Given the description of an element on the screen output the (x, y) to click on. 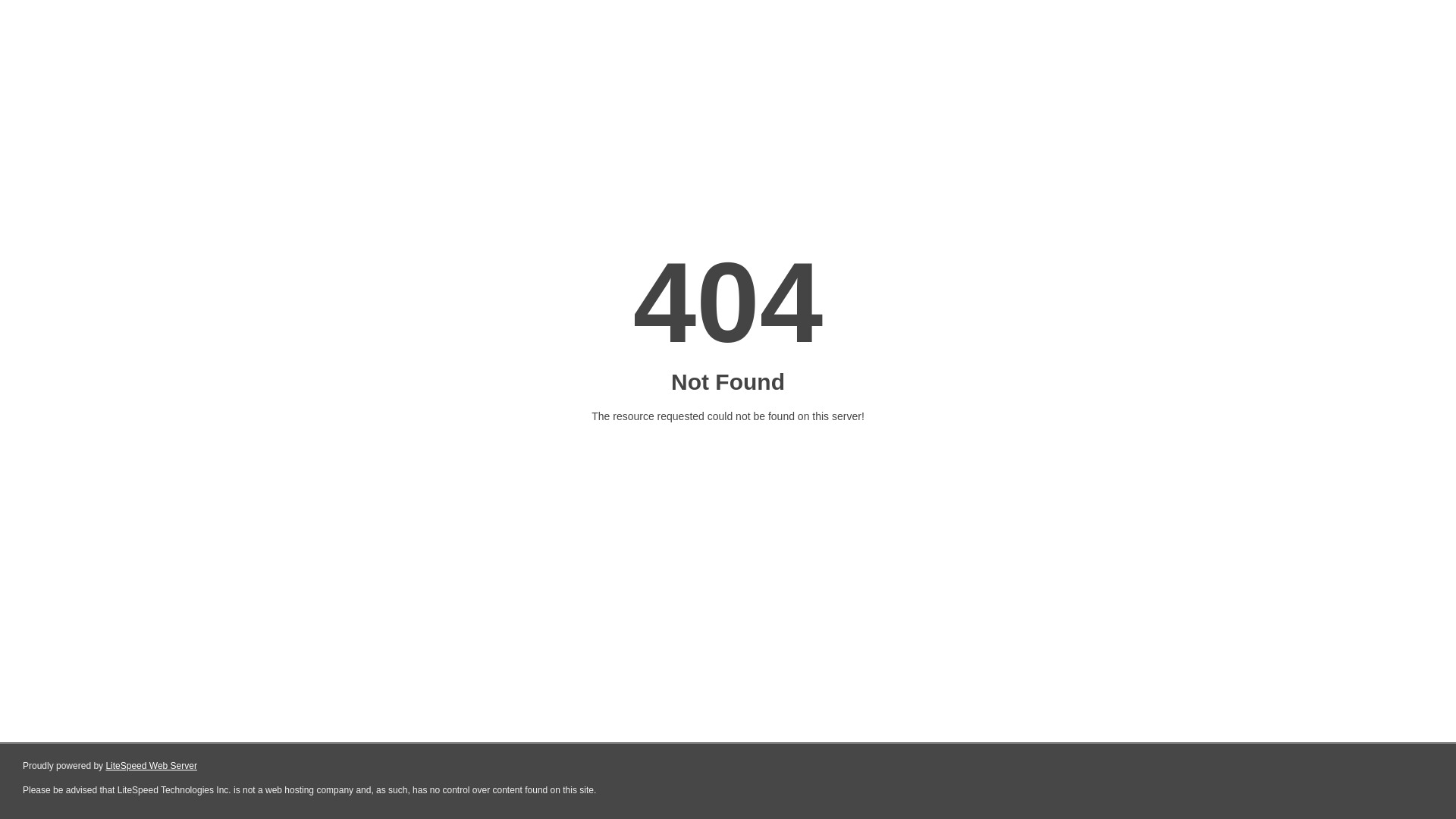
LiteSpeed Web Server Element type: text (151, 765)
